Given the description of an element on the screen output the (x, y) to click on. 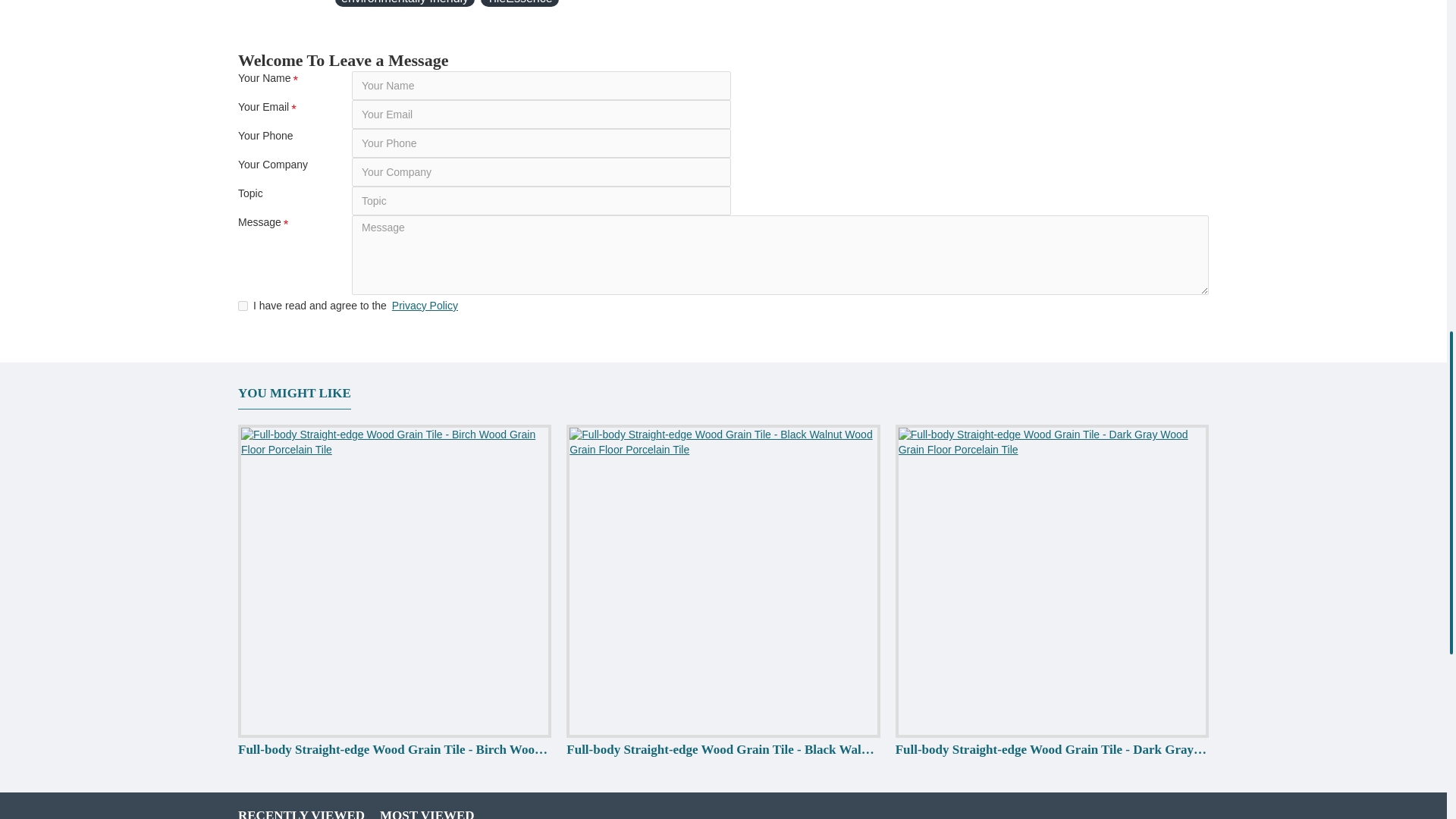
1 (242, 306)
